Given the description of an element on the screen output the (x, y) to click on. 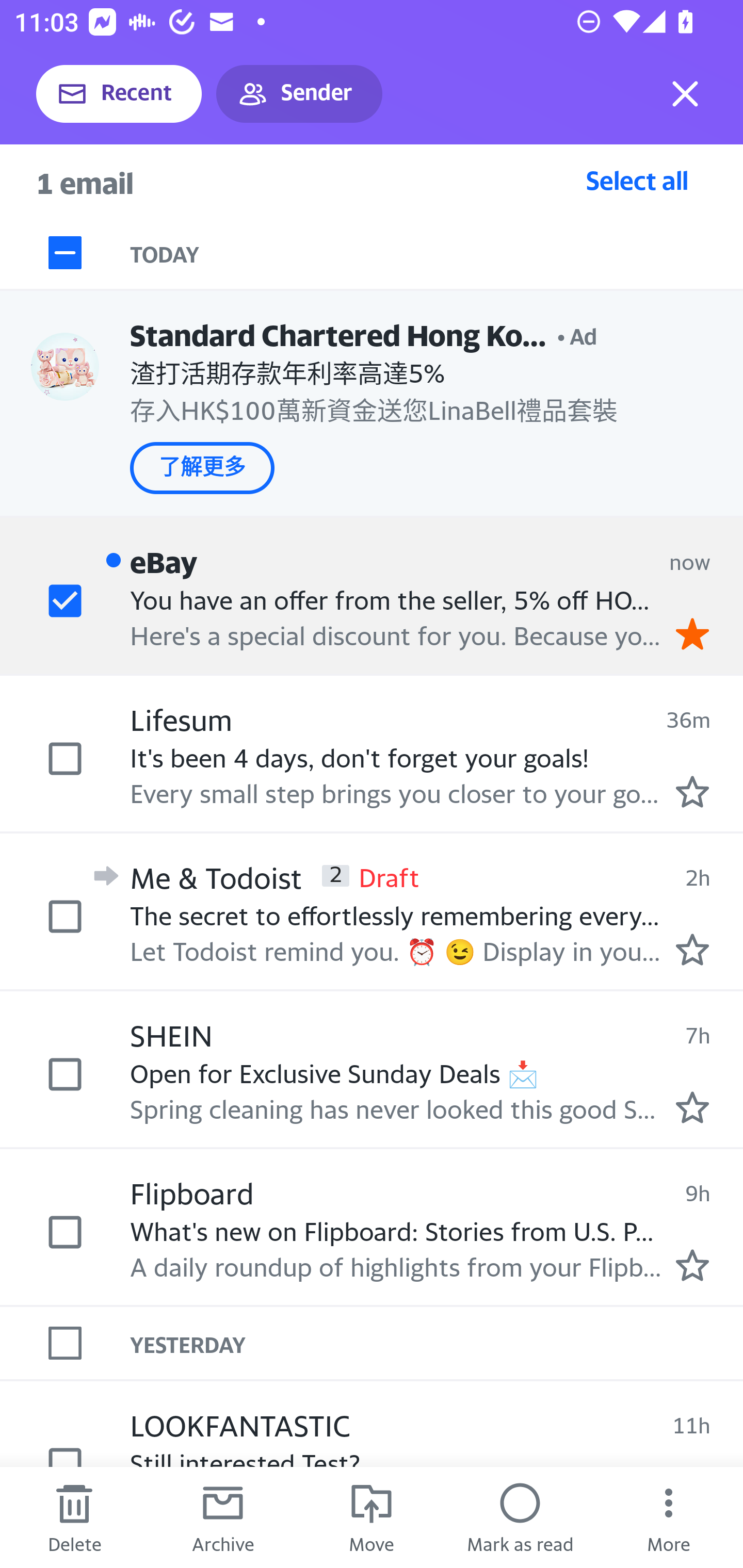
Sender (299, 93)
Exit selection mode (684, 93)
Select all (637, 180)
TODAY (436, 252)
Remove star. (692, 634)
Mark as starred. (692, 791)
Mark as starred. (692, 949)
Mark as starred. (692, 1107)
Mark as starred. (692, 1264)
YESTERDAY (436, 1342)
Delete (74, 1517)
Archive (222, 1517)
Move (371, 1517)
Mark as read (519, 1517)
More (668, 1517)
